Given the description of an element on the screen output the (x, y) to click on. 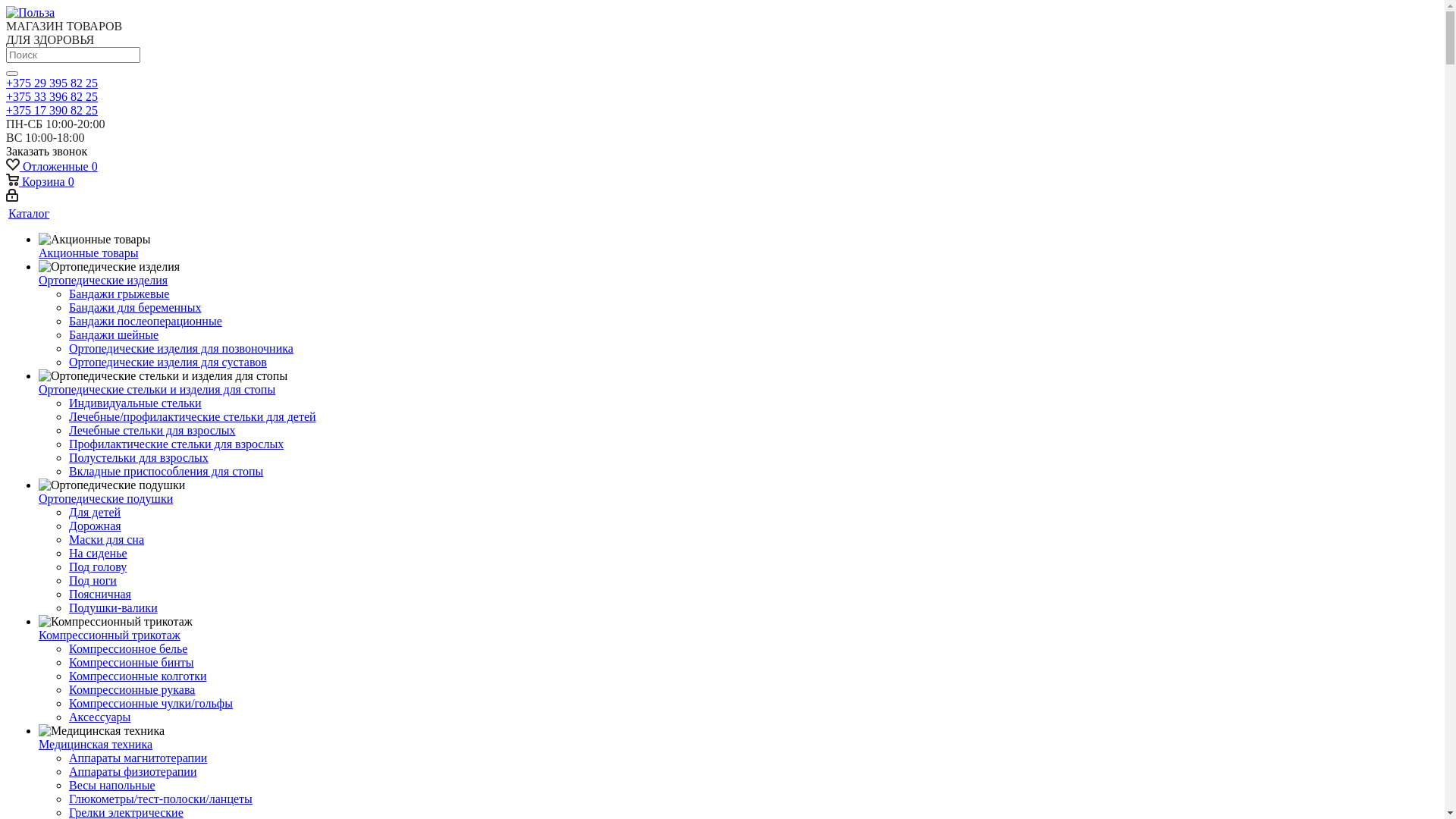
+375 17 390 82 25 Element type: text (51, 109)
+375 33 396 82 25 Element type: text (51, 96)
+375 29 395 82 25 Element type: text (51, 82)
